Given the description of an element on the screen output the (x, y) to click on. 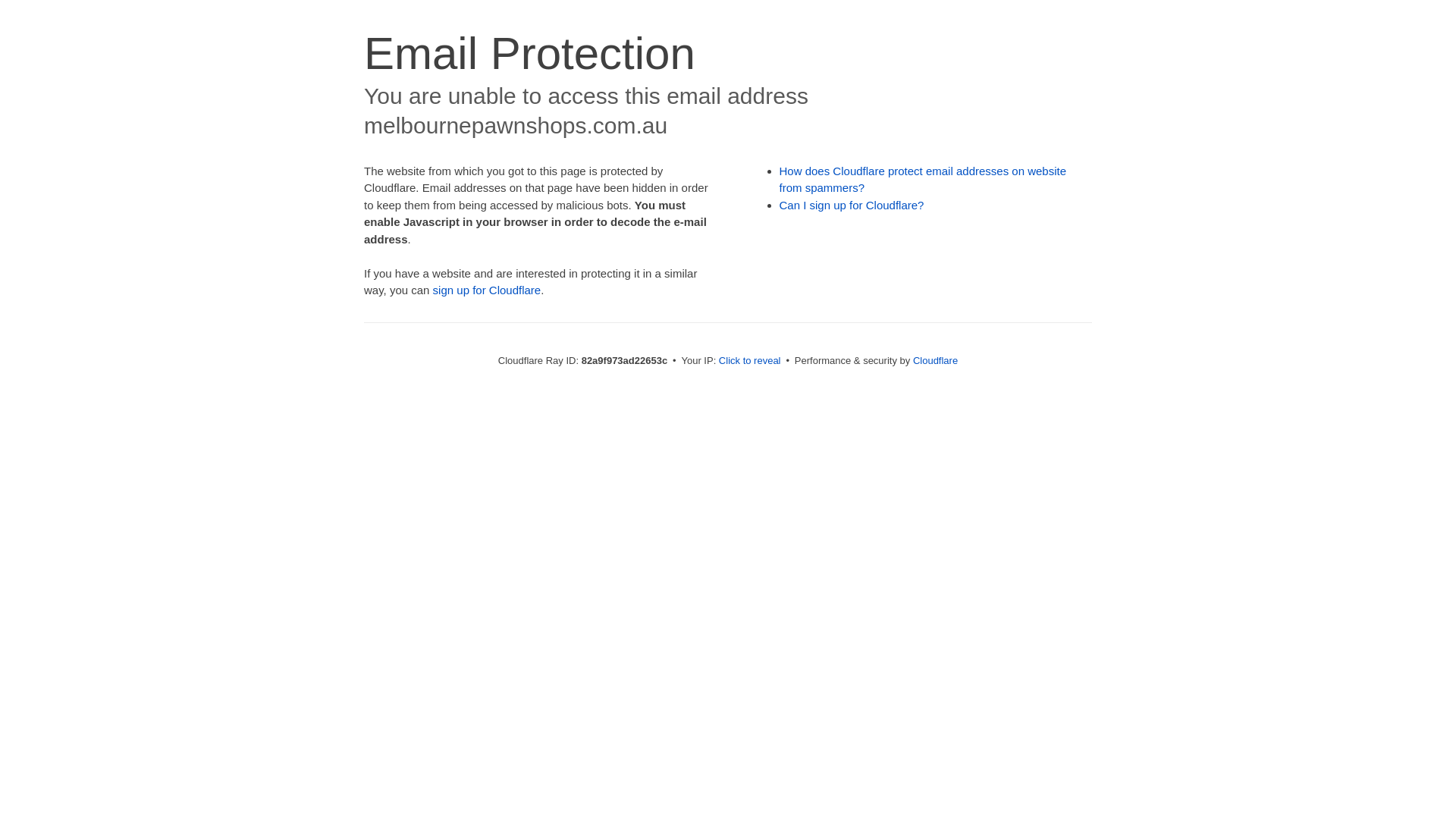
sign up for Cloudflare Element type: text (487, 289)
Cloudflare Element type: text (935, 360)
Click to reveal Element type: text (749, 360)
Can I sign up for Cloudflare? Element type: text (851, 204)
